Given the description of an element on the screen output the (x, y) to click on. 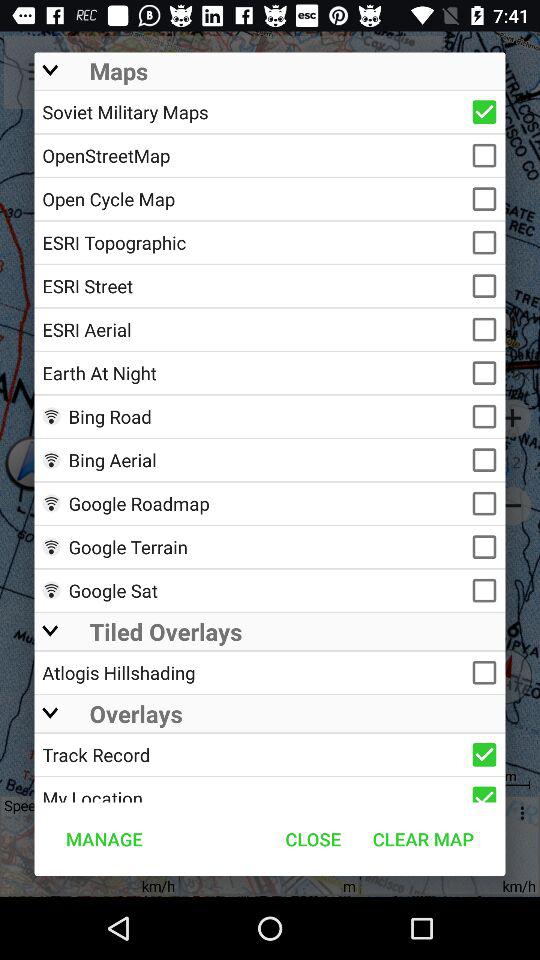
click the manage at the bottom left corner (104, 838)
